Given the description of an element on the screen output the (x, y) to click on. 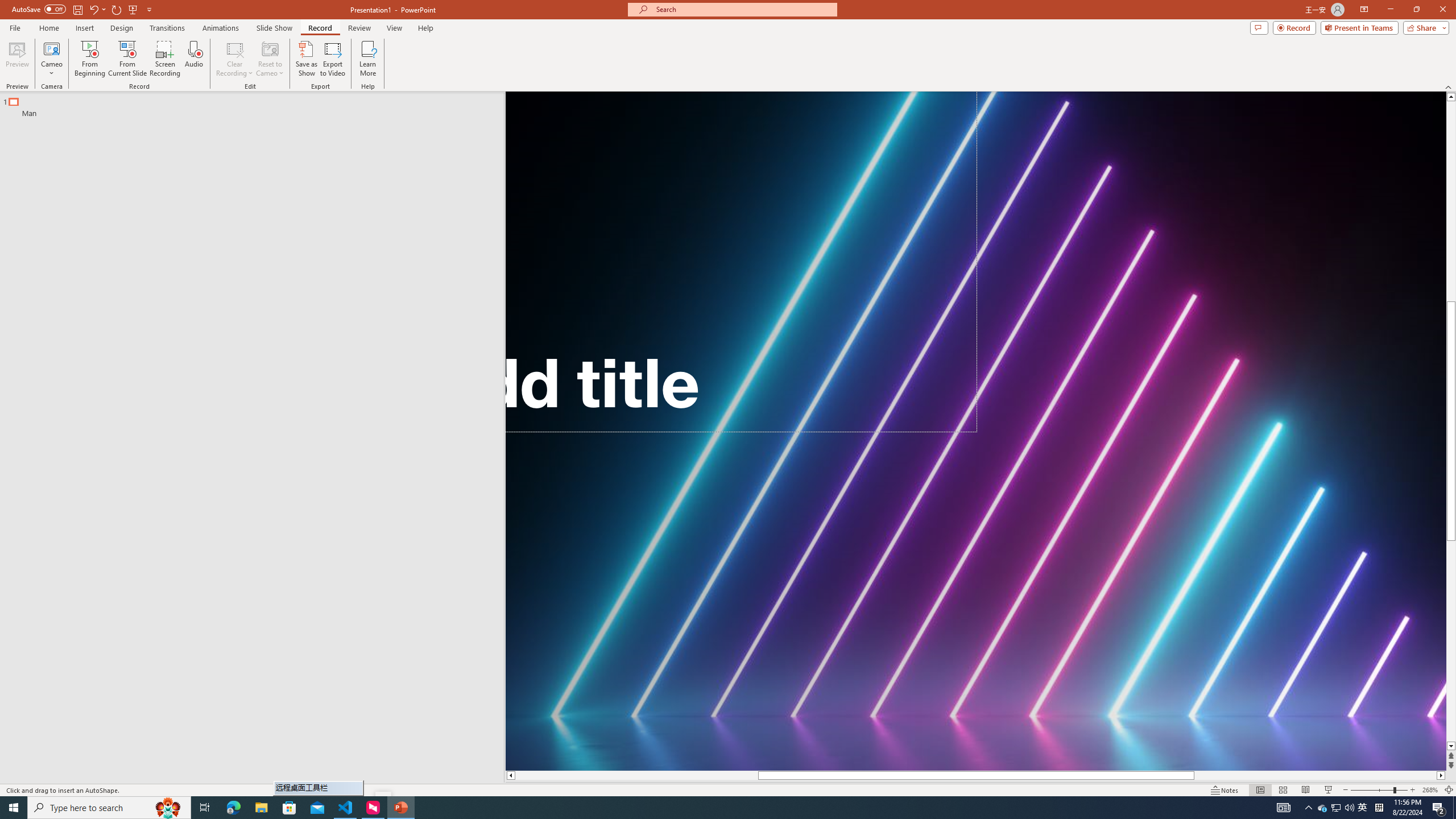
Export to Video (332, 58)
Save as Show (306, 58)
Audio (193, 58)
Screen Recording (165, 58)
Outline (256, 104)
